Given the description of an element on the screen output the (x, y) to click on. 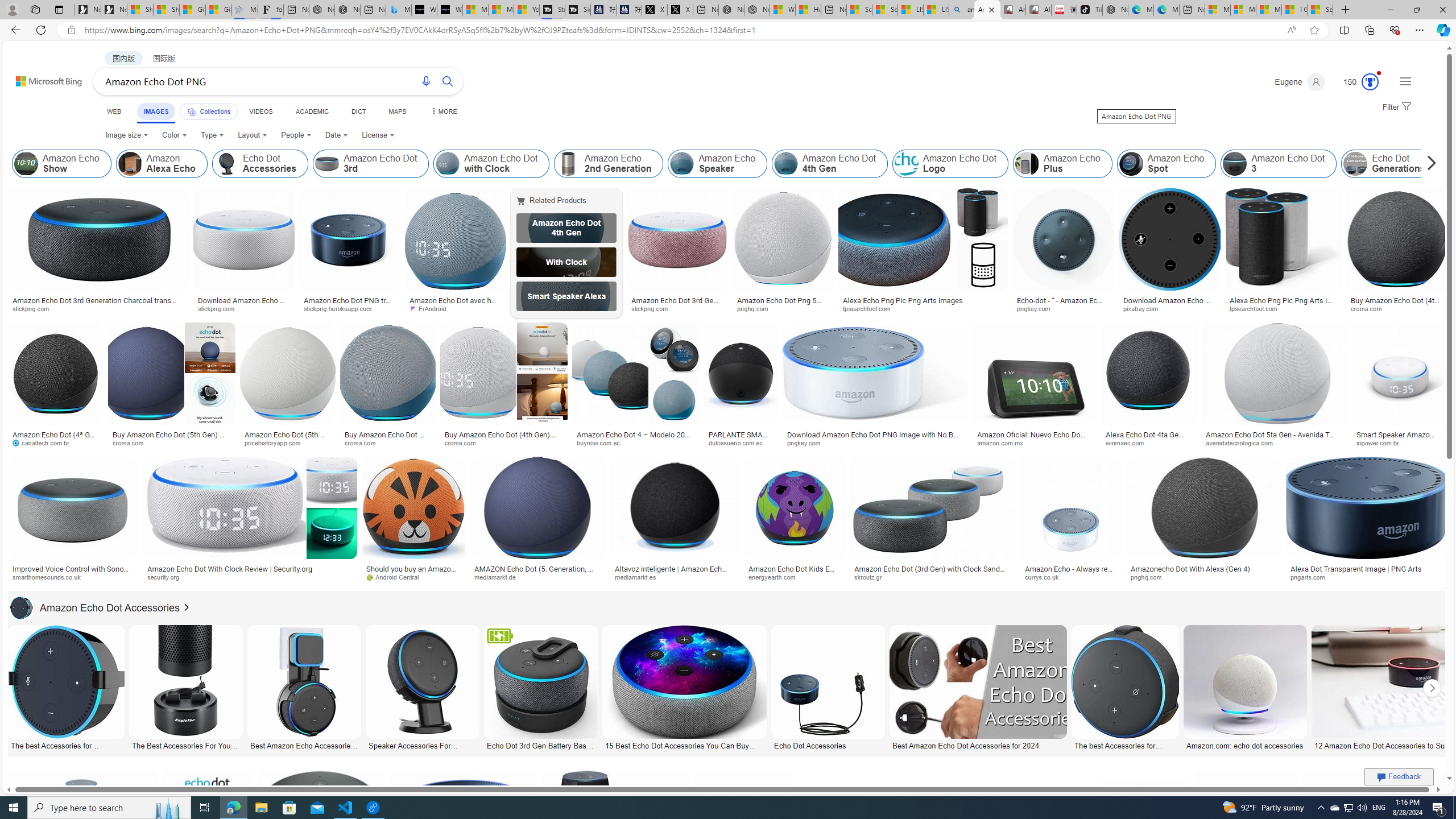
inpower.com.br (1381, 442)
Amazon Echo Dot 3 (1235, 163)
Amazon Echo Dot Logo (905, 163)
Echo Dot Generations (1355, 163)
